Given the description of an element on the screen output the (x, y) to click on. 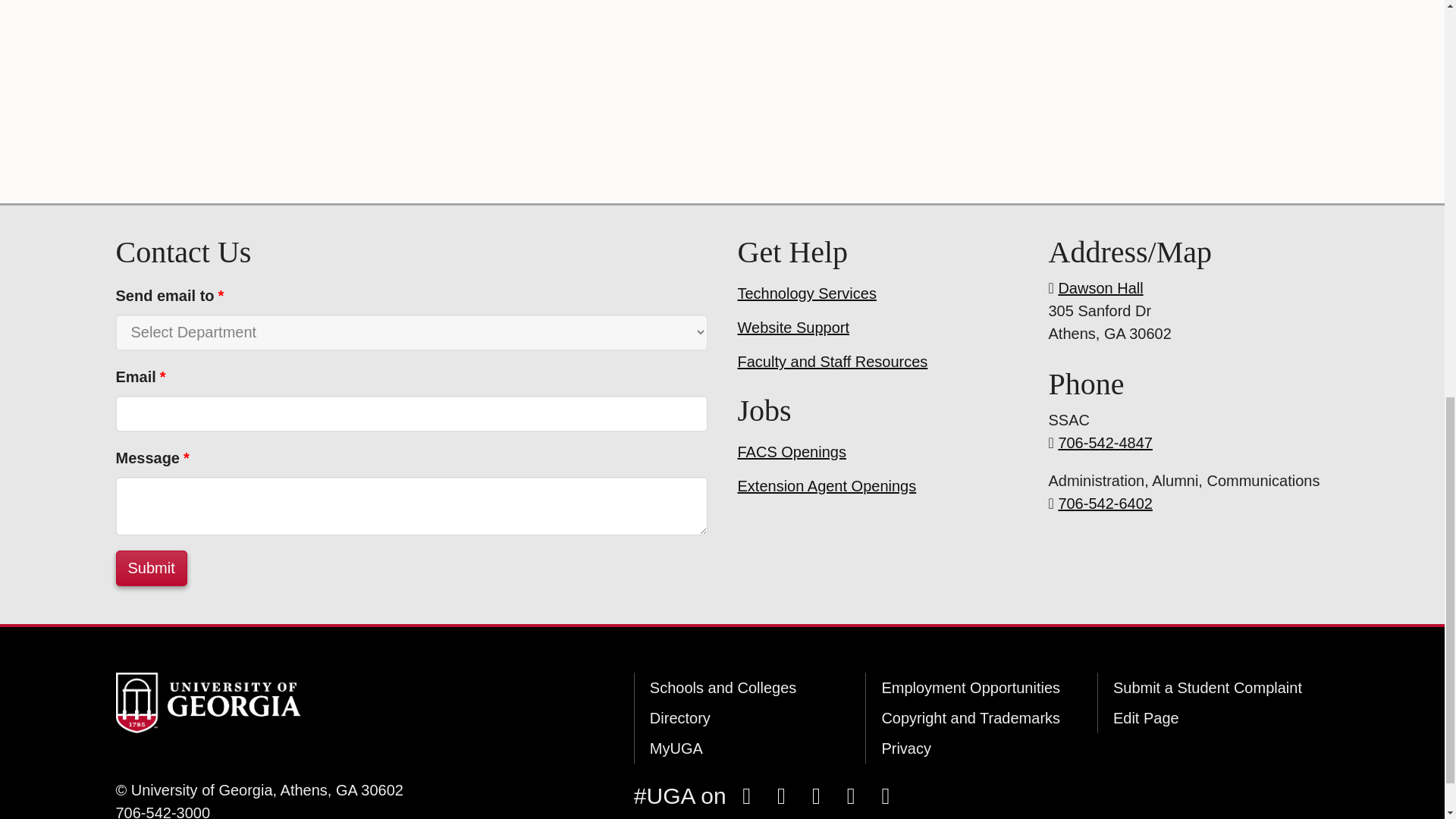
YouTube (849, 795)
Facebook (746, 795)
Jump to page top (1421, 19)
LinkedIn (884, 795)
Snapchat (816, 795)
Instagram (781, 795)
